Given the description of an element on the screen output the (x, y) to click on. 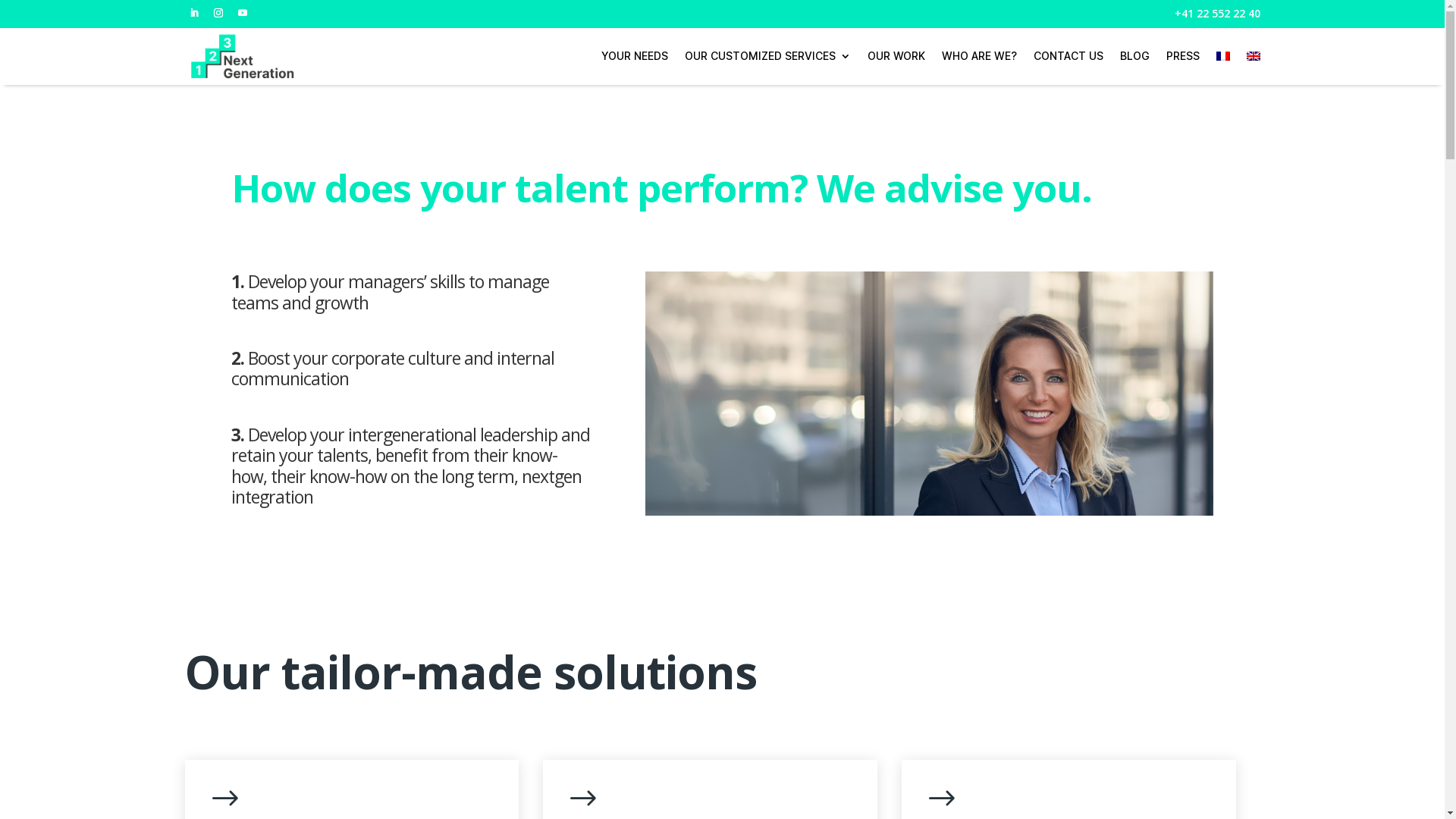
Follow on Instagram Element type: hover (218, 12)
BLOG Element type: text (1133, 56)
Follow on Youtube Element type: hover (242, 12)
CONTACT US Element type: text (1067, 56)
WHO ARE WE? Element type: text (978, 56)
PRESS Element type: text (1182, 56)
YOUR NEEDS Element type: text (633, 56)
OUR WORK Element type: text (896, 56)
Follow on LinkedIn Element type: hover (194, 12)
OUR CUSTOMIZED SERVICES Element type: text (767, 56)
